Given the description of an element on the screen output the (x, y) to click on. 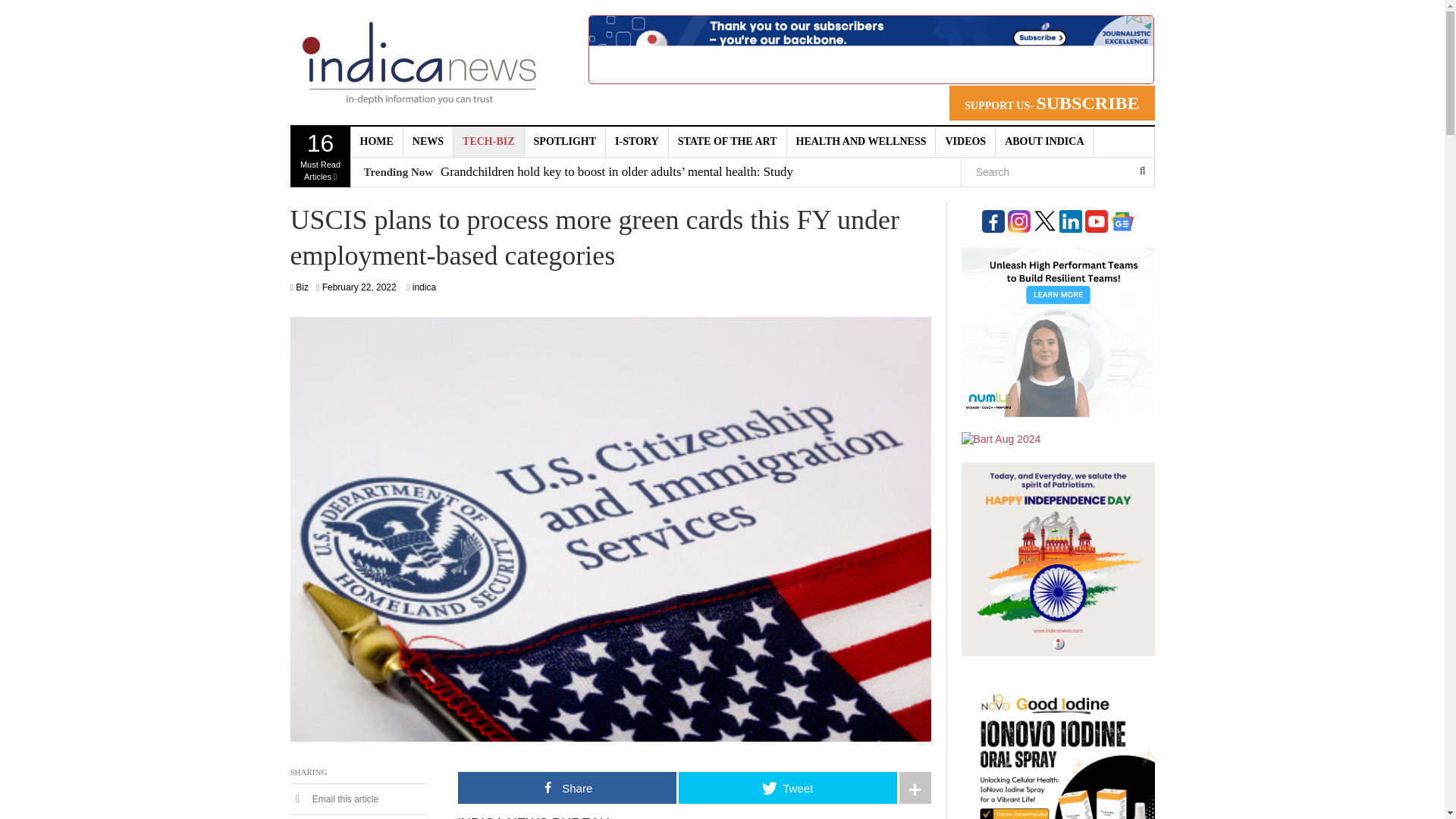
Tweet (787, 787)
Biz (301, 286)
I-STORY (636, 141)
indica (423, 286)
HEALTH AND WELLNESS (358, 286)
ABOUT INDICA (861, 141)
HOME (1044, 141)
VIDEOS (376, 141)
SUPPORT US- SUBSCRIBE (965, 141)
